Given the description of an element on the screen output the (x, y) to click on. 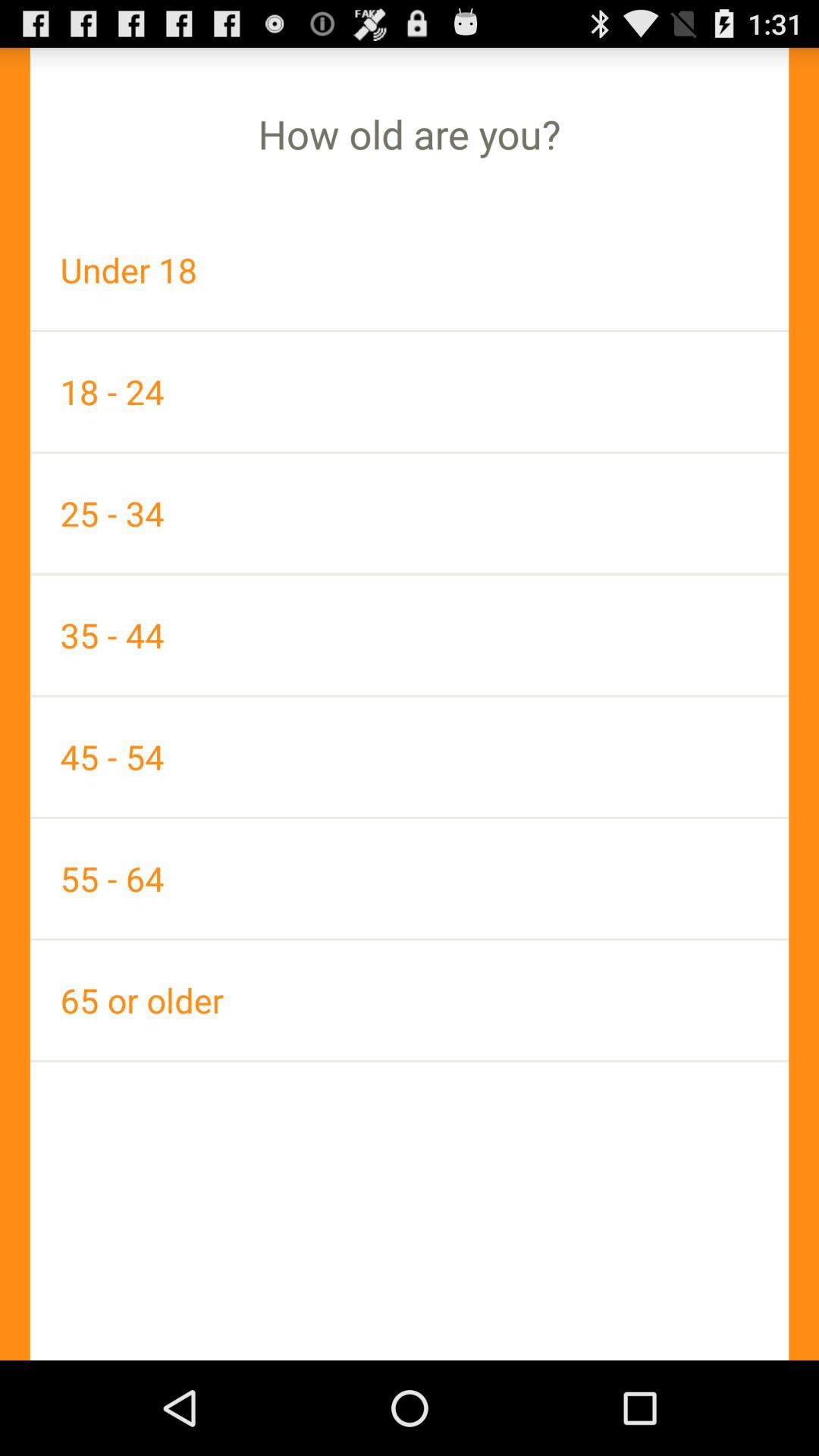
swipe until the 35 - 44 app (409, 635)
